Given the description of an element on the screen output the (x, y) to click on. 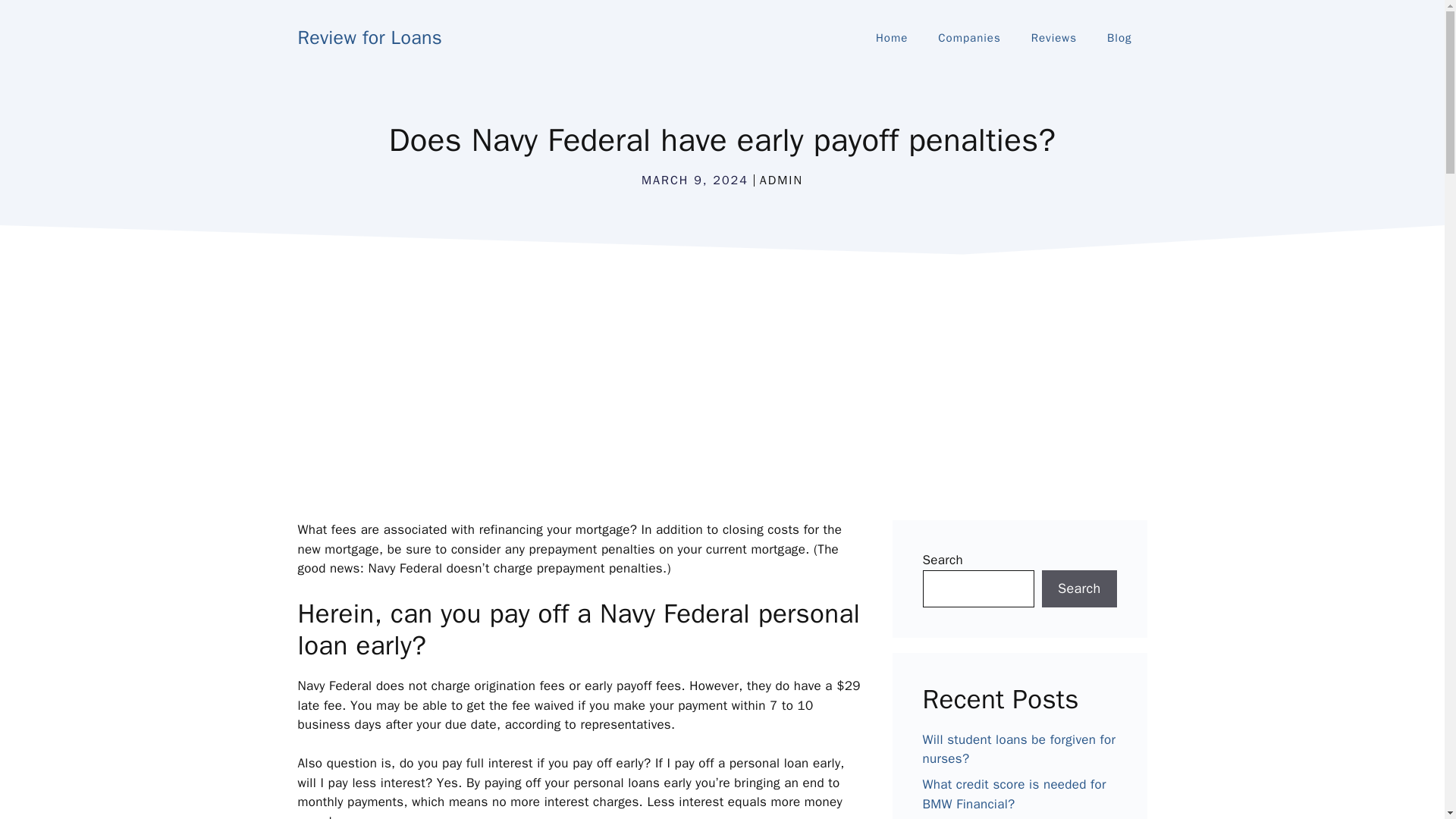
Blog (1119, 37)
Review for Loans (369, 37)
Reviews (1054, 37)
Search (1079, 588)
Companies (968, 37)
Will student loans be forgiven for nurses? (1018, 749)
ADMIN (781, 180)
Home (891, 37)
What credit score is needed for BMW Financial? (1013, 794)
